Given the description of an element on the screen output the (x, y) to click on. 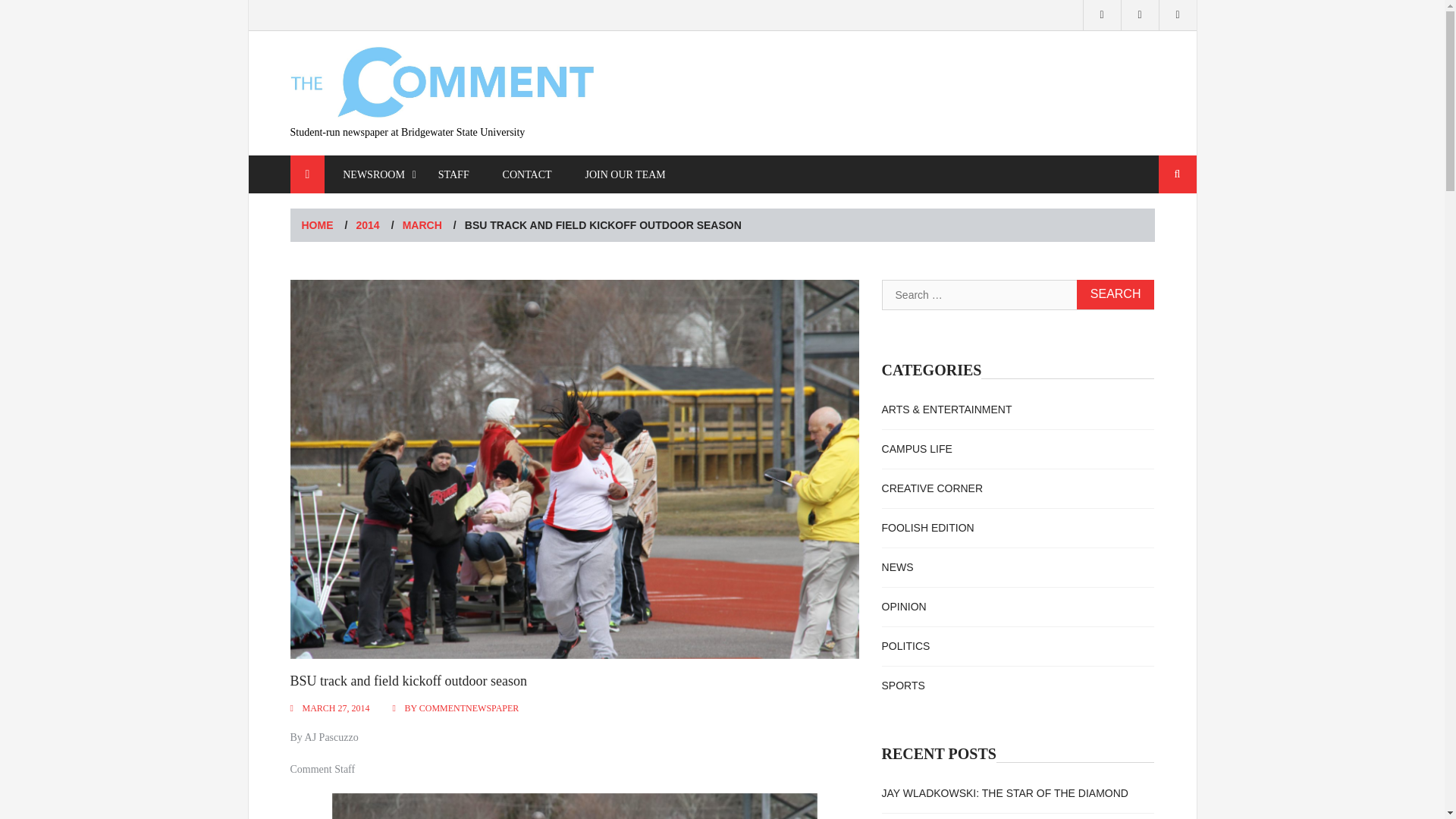
CONTACT (527, 174)
MARCH (422, 224)
JOIN OUR TEAM (624, 174)
FACEBOOK (1177, 15)
MARCH 27, 2014 (335, 707)
TWITTER (1139, 15)
Search (1177, 174)
HOME (317, 224)
INSTAGRAM (1102, 15)
Search (1177, 174)
Search (1115, 294)
2014 (368, 224)
STAFF (453, 174)
COMMENTNEWSPAPER (469, 707)
Search (1177, 174)
